Given the description of an element on the screen output the (x, y) to click on. 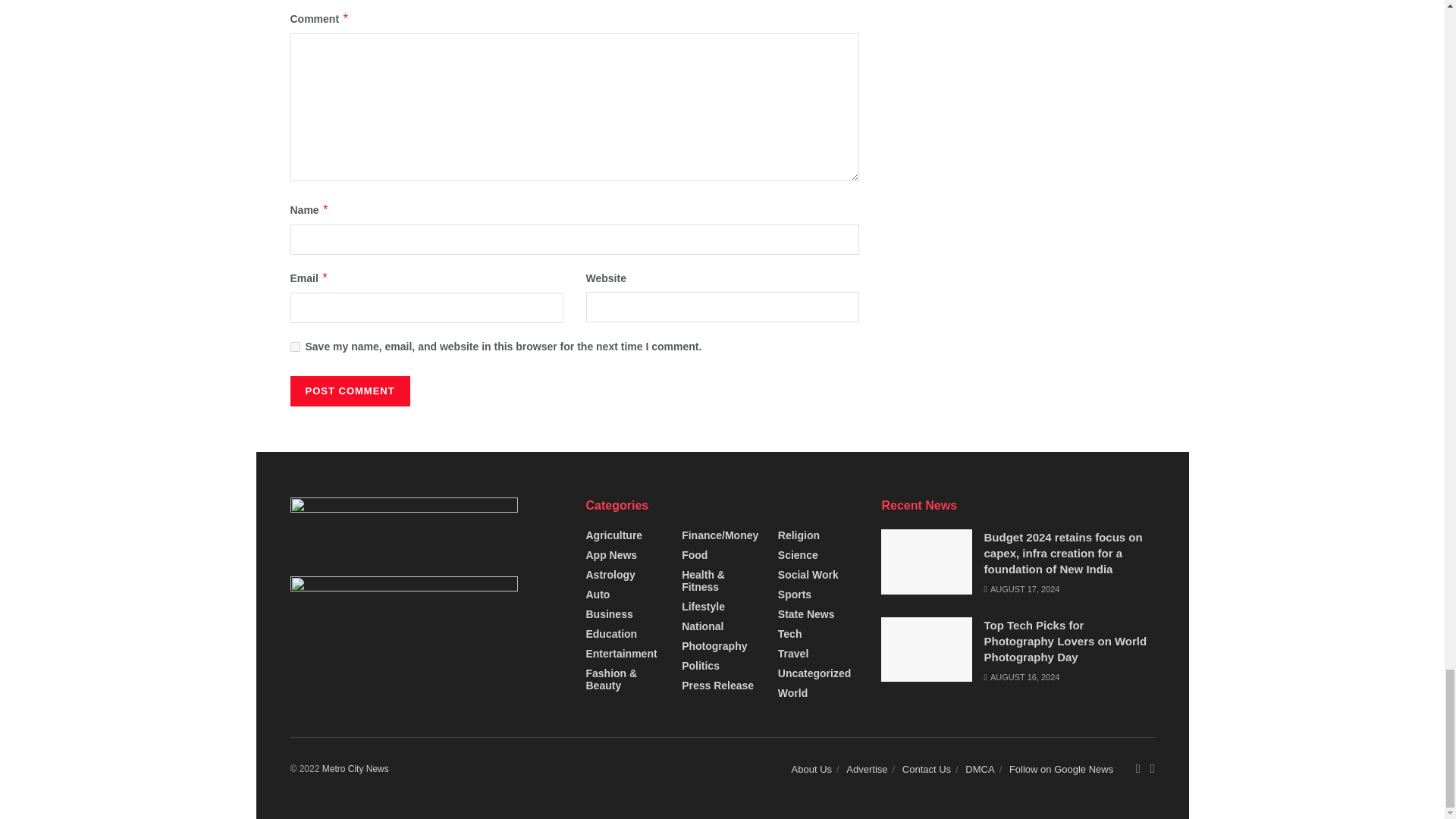
Metro City News (354, 768)
Post Comment (349, 390)
yes (294, 347)
